Given the description of an element on the screen output the (x, y) to click on. 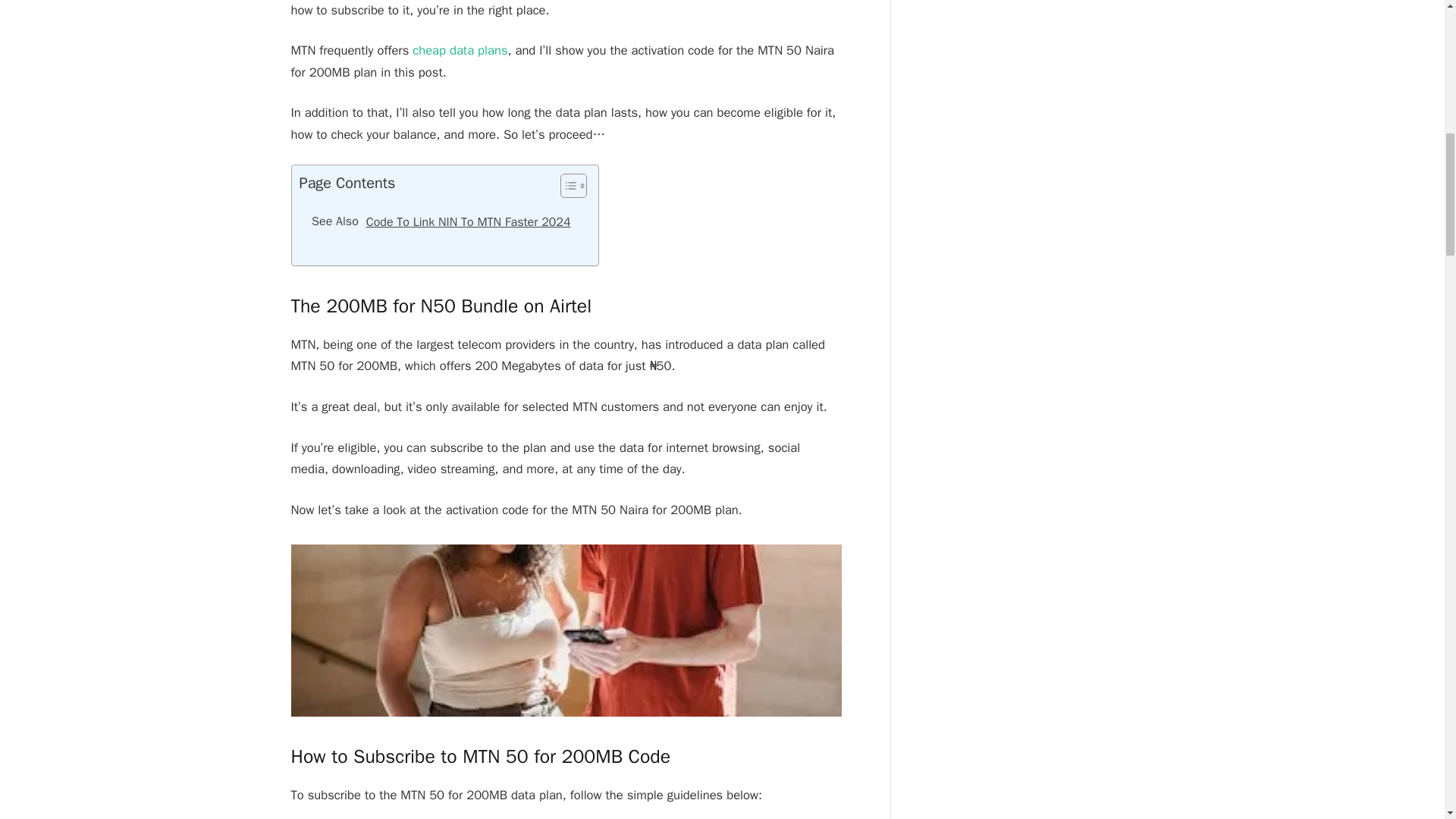
cheap data plans (457, 50)
